Given the description of an element on the screen output the (x, y) to click on. 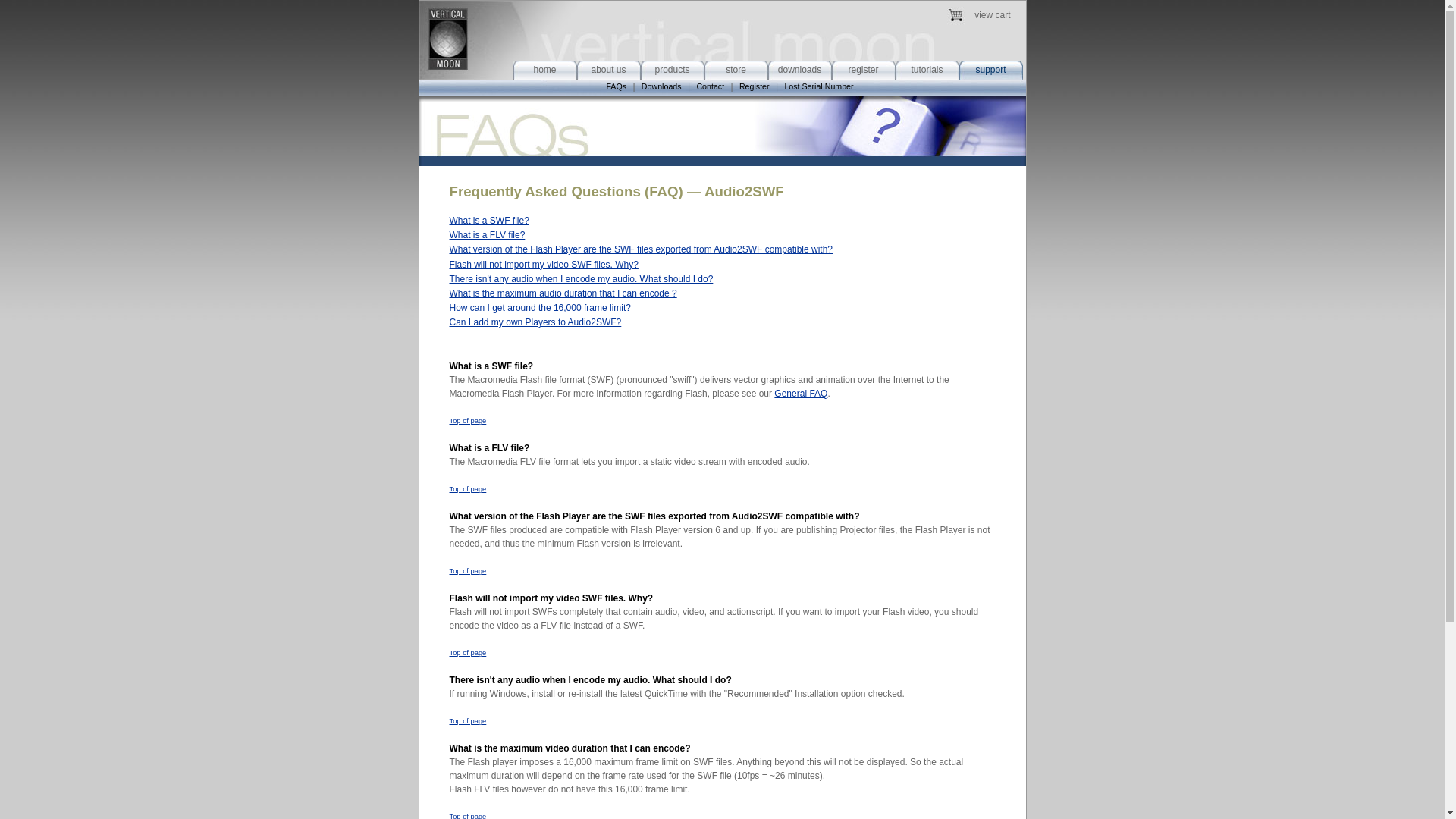
Register (754, 85)
Top of page (467, 816)
downloads (799, 69)
FAQs (615, 85)
What is a SWF file? (488, 220)
What is the maximum audio duration that I can encode ? (562, 293)
tutorials (926, 69)
Top of page (467, 489)
General FAQ (800, 393)
